Given the description of an element on the screen output the (x, y) to click on. 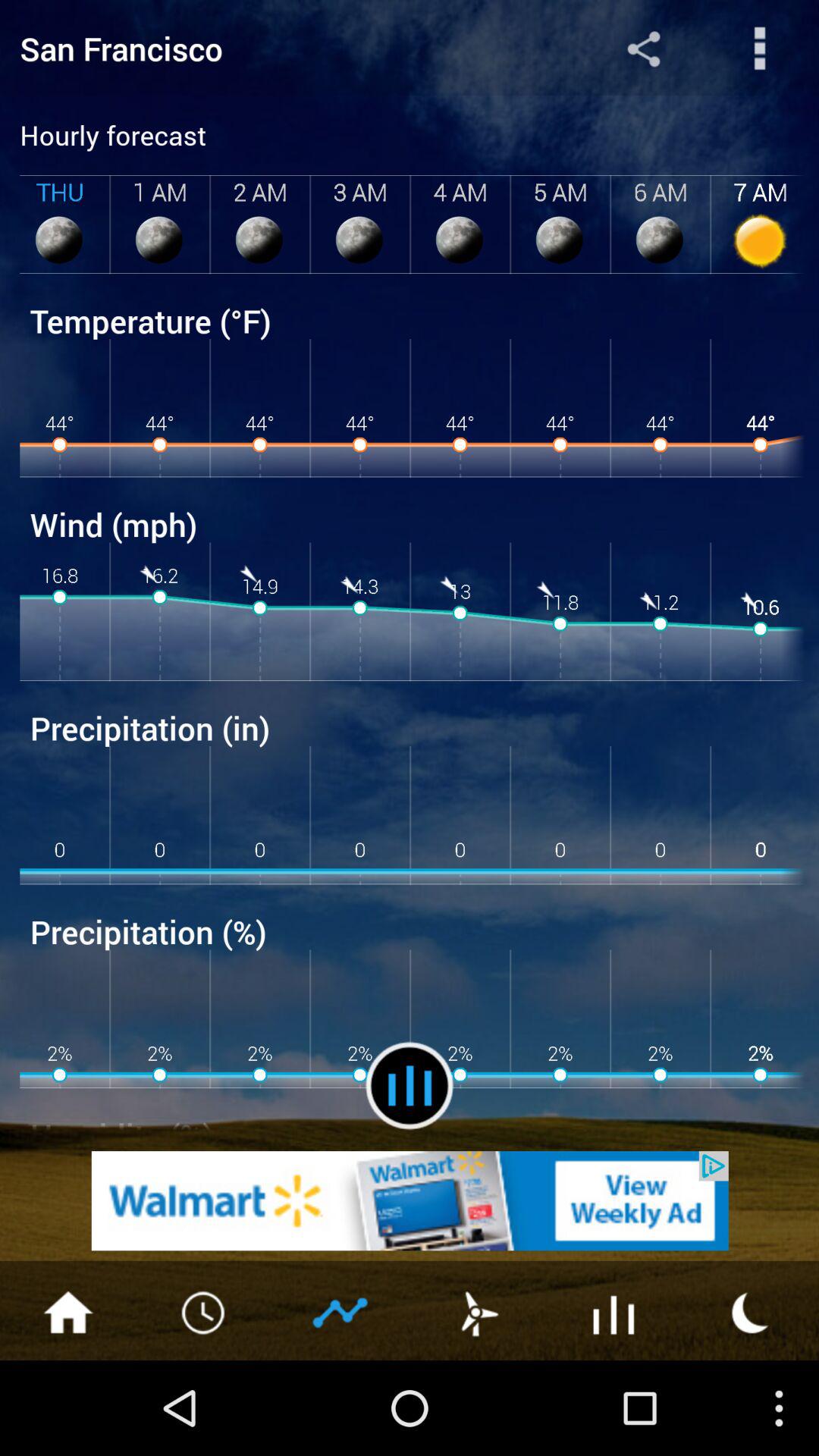
share the page (643, 48)
